Given the description of an element on the screen output the (x, y) to click on. 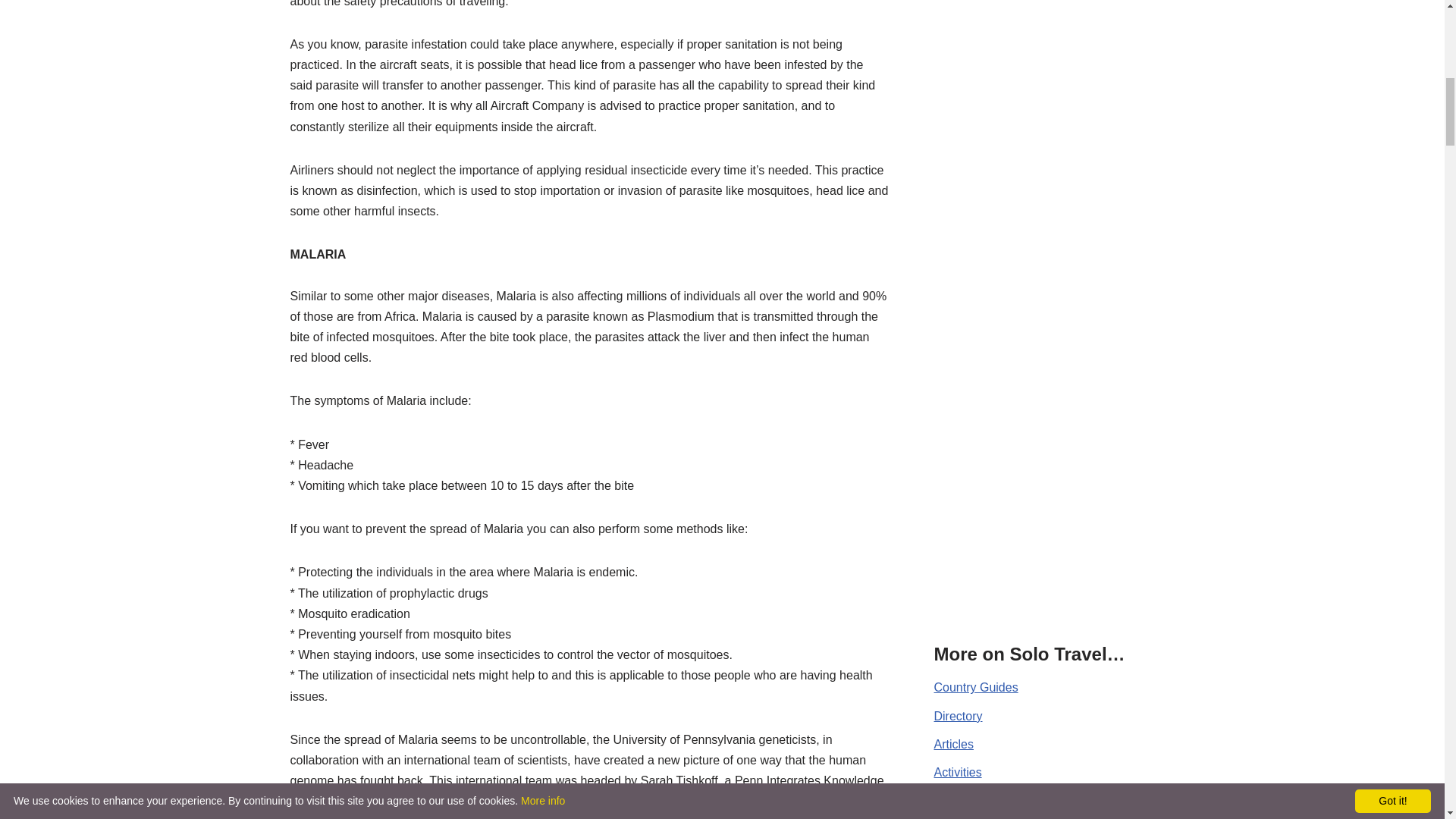
Activities (957, 771)
Country Guides (975, 686)
Directory (958, 716)
Articles (954, 744)
Humor (952, 799)
